Given the description of an element on the screen output the (x, y) to click on. 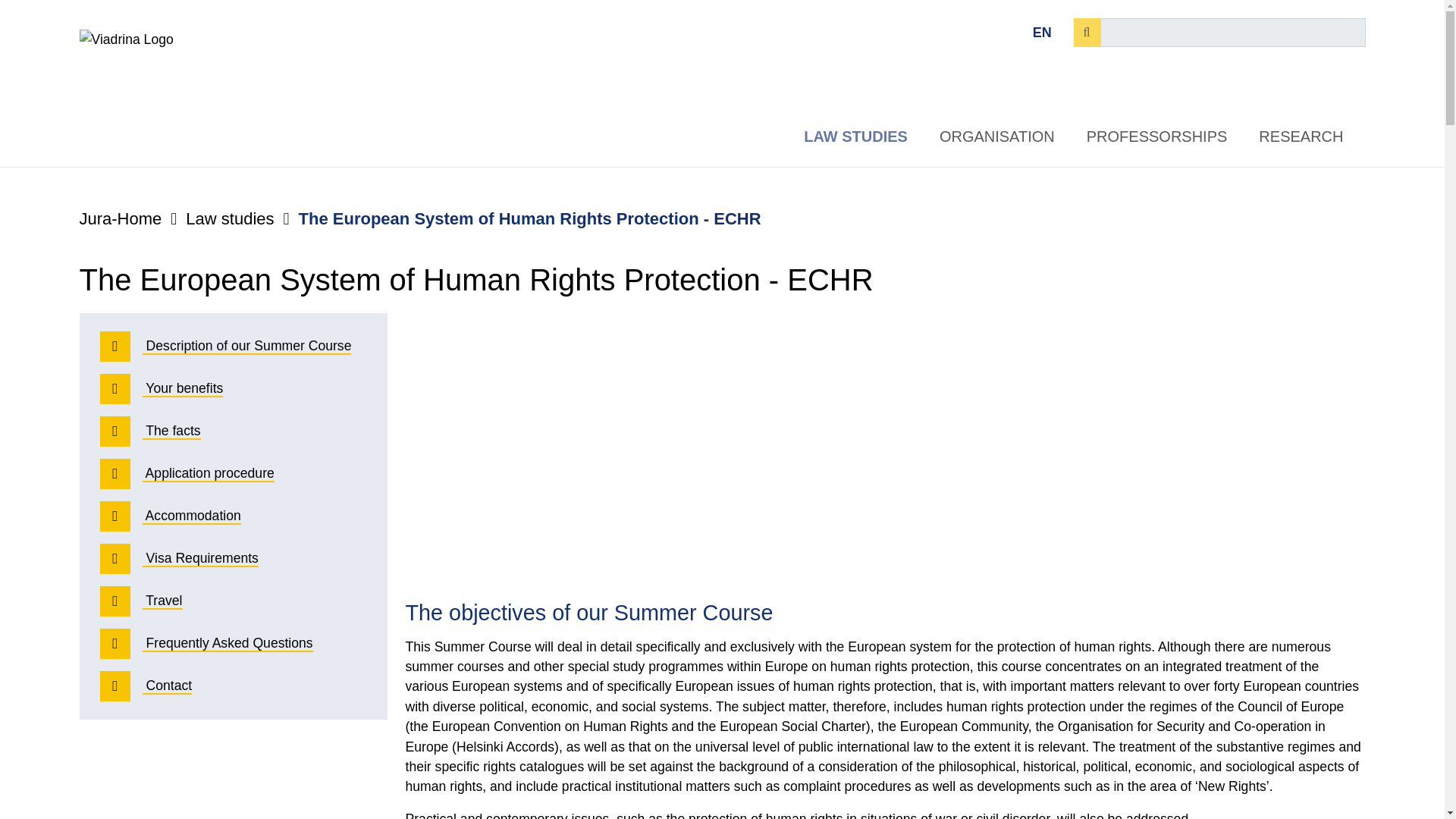
RESEARCH (1300, 136)
Faculty of Law of the Viadrina (119, 218)
Jura-Home (119, 218)
PROFESSORSHIPS (1157, 136)
EN (1041, 31)
Law studies (229, 218)
Search (1087, 32)
LAW STUDIES (855, 136)
Your benefits (256, 388)
Description of our Summer Course (256, 346)
ORGANISATION (997, 136)
